Given the description of an element on the screen output the (x, y) to click on. 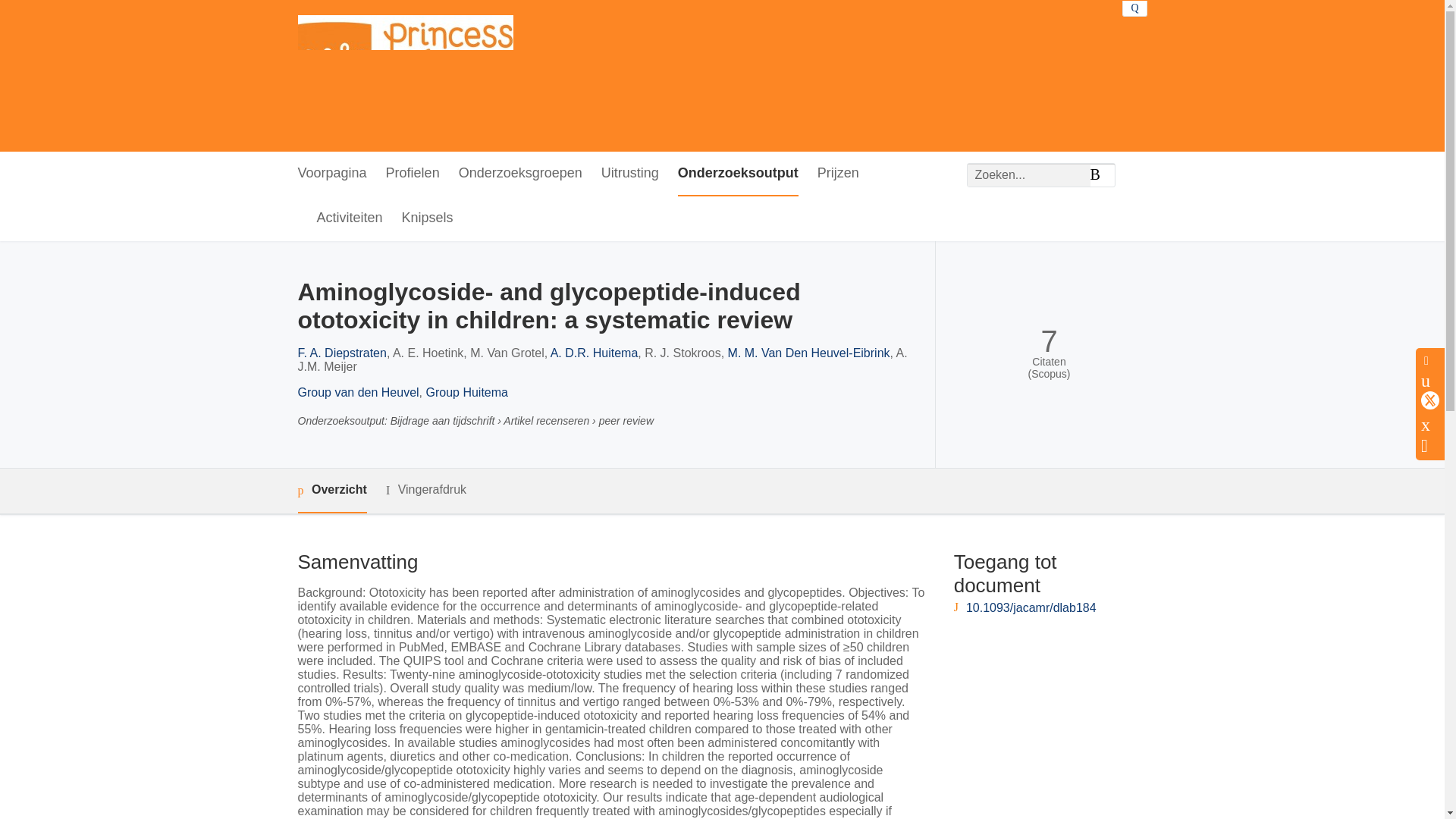
Onderzoeksgroepen (520, 173)
M. M. Van Den Heuvel-Eibrink (808, 352)
Profielen (412, 173)
Knipsels (426, 218)
Onderzoeksoutput (737, 173)
Voorpagina (331, 173)
Group van den Heuvel (358, 391)
Group Huitema (467, 391)
Uitrusting (630, 173)
Overzicht (331, 490)
Prijzen (837, 173)
A. D.R. Huitema (594, 352)
F. A. Diepstraten (341, 352)
Activiteiten (349, 218)
